Given the description of an element on the screen output the (x, y) to click on. 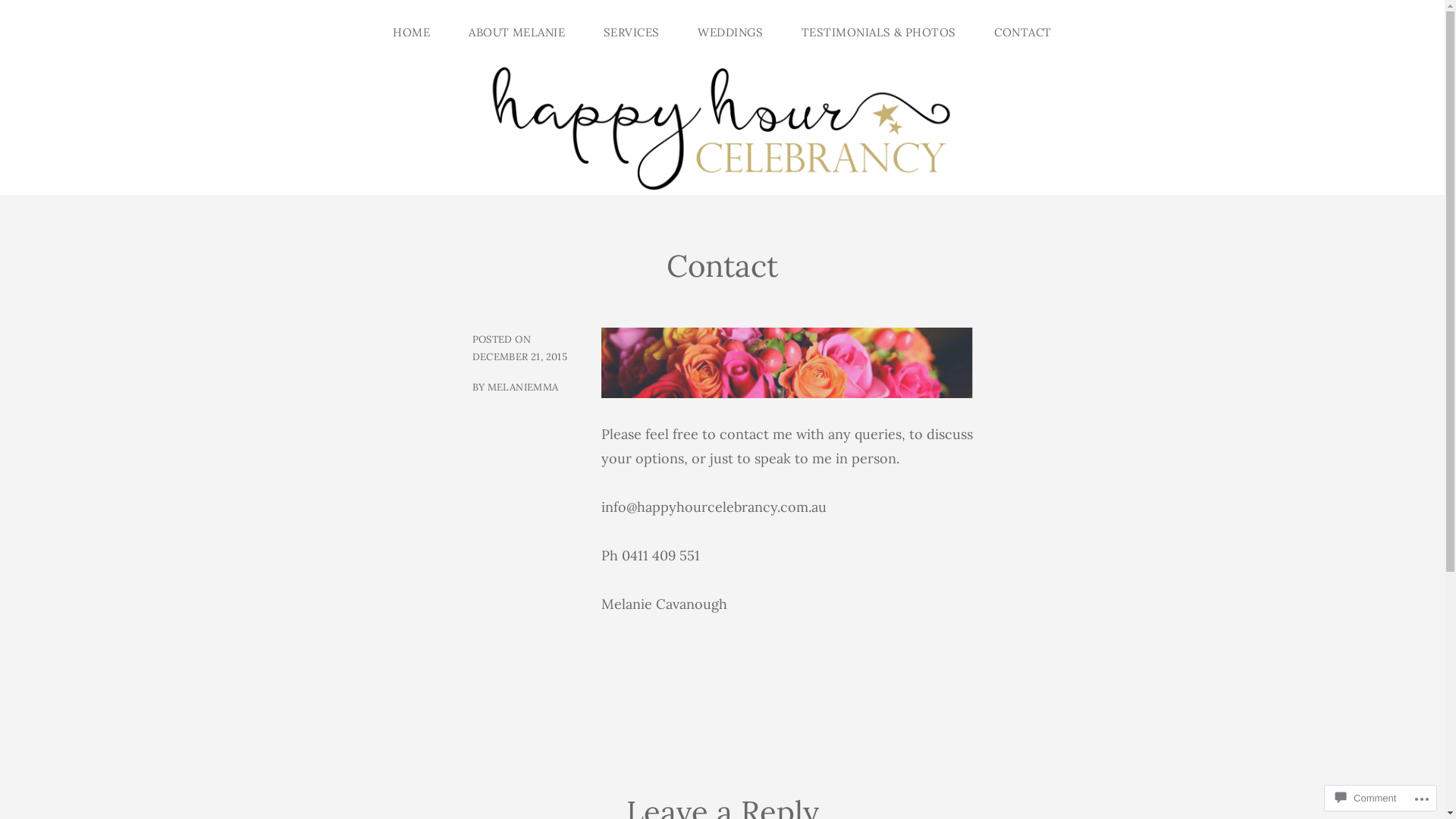
WEDDINGS Element type: text (739, 32)
Like or Reblog Element type: hover (786, 716)
DECEMBER 21, 2015 Element type: text (519, 356)
ABOUT MELANIE Element type: text (526, 32)
HOME Element type: text (420, 32)
info@happyhourcelebrancy.com.au Element type: text (712, 507)
MELANIEMMA Element type: text (522, 386)
Comment Element type: text (1365, 797)
SERVICES Element type: text (641, 32)
FUN, RELAXED BRISBANE CEREMONIES Element type: text (317, 156)
CONTACT Element type: text (1022, 32)
TESTIMONIALS & PHOTOS Element type: text (888, 32)
